Given the description of an element on the screen output the (x, y) to click on. 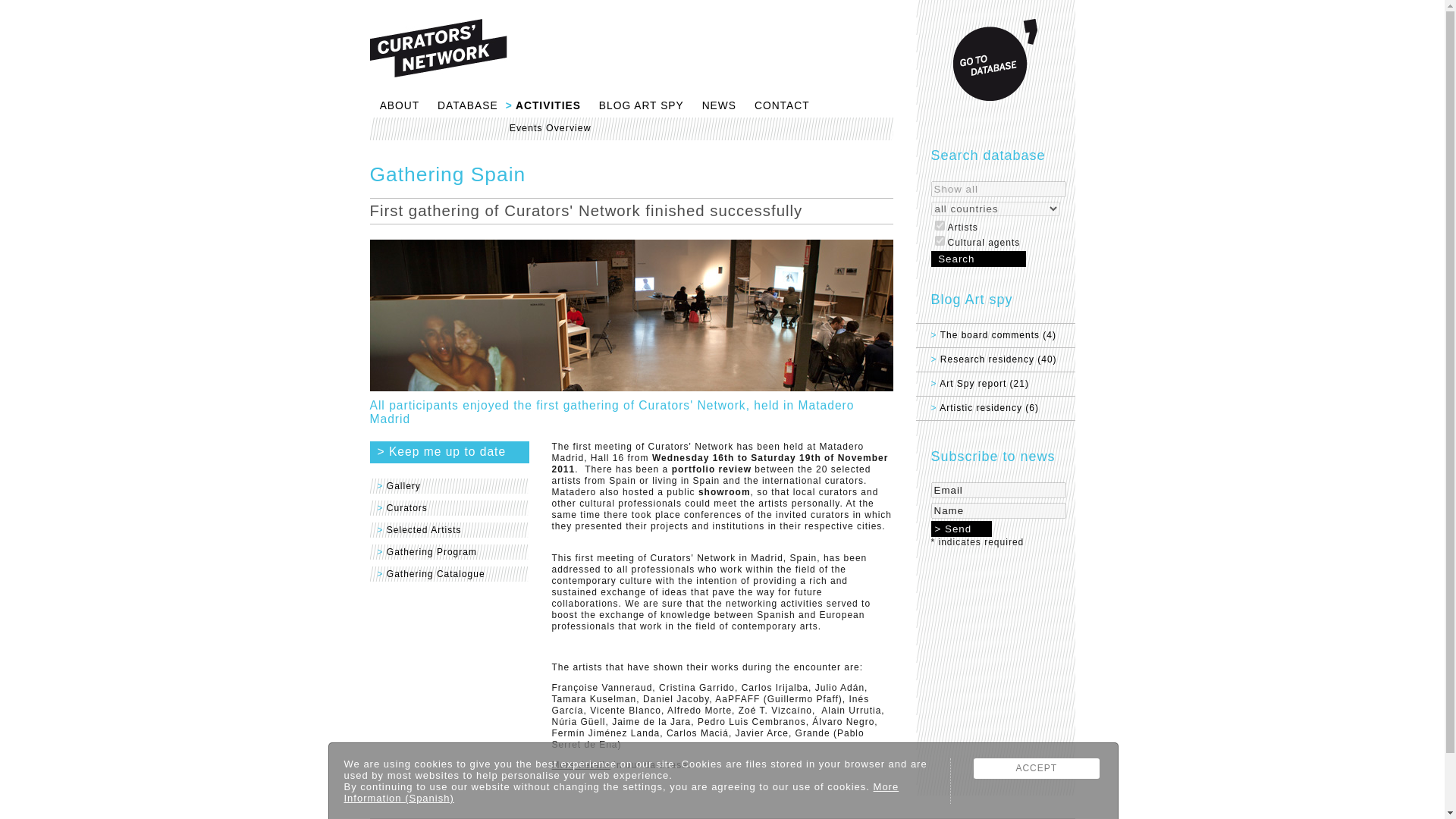
Keep me up to date (449, 452)
More details (580, 765)
Gallery (449, 489)
Selected Artists (449, 533)
ACCEPT (1037, 768)
Gathering Program (449, 555)
BLOG ART SPY (636, 107)
Gathering Catalogue (449, 577)
NEWS (713, 107)
ABOUT (394, 107)
